Given the description of an element on the screen output the (x, y) to click on. 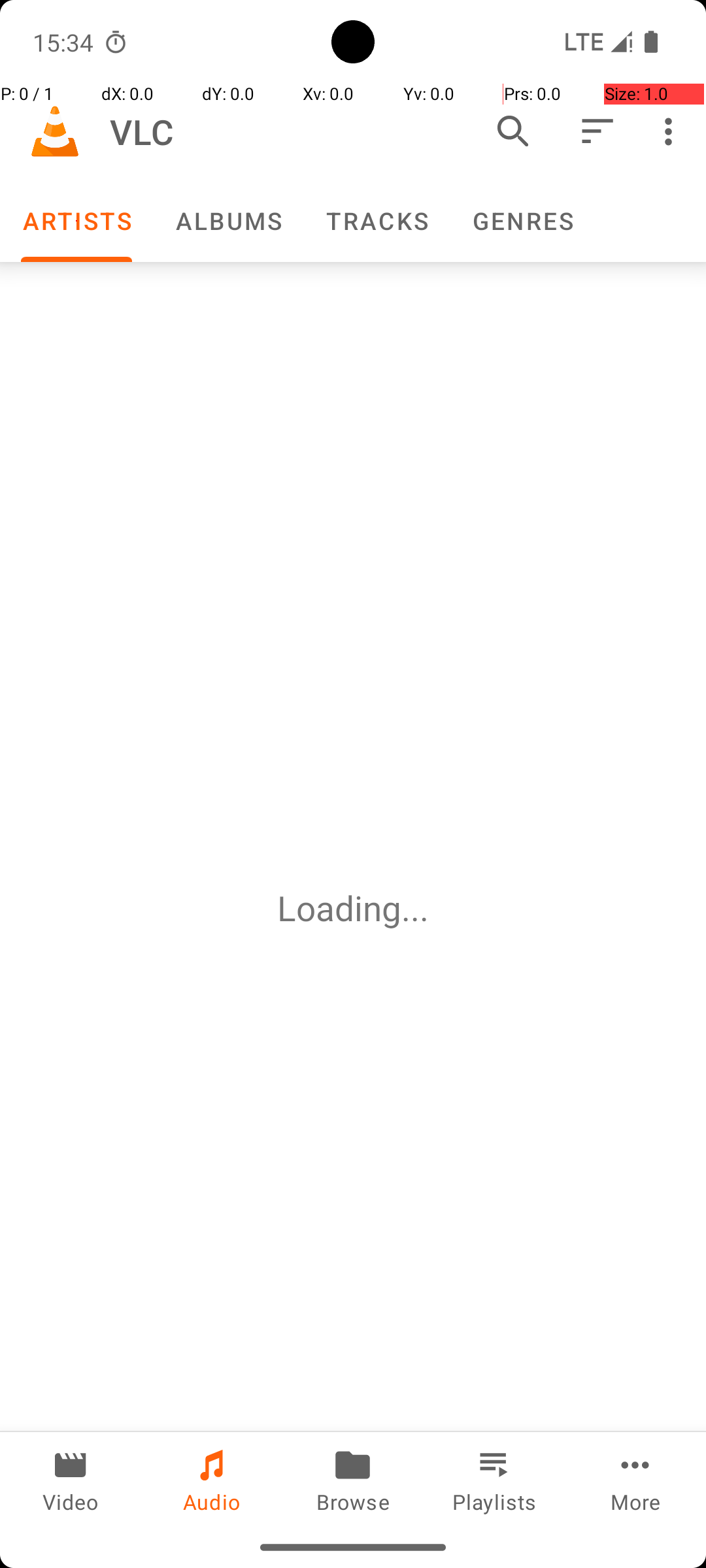
... Element type: android.widget.TextView (414, 907)
